Given the description of an element on the screen output the (x, y) to click on. 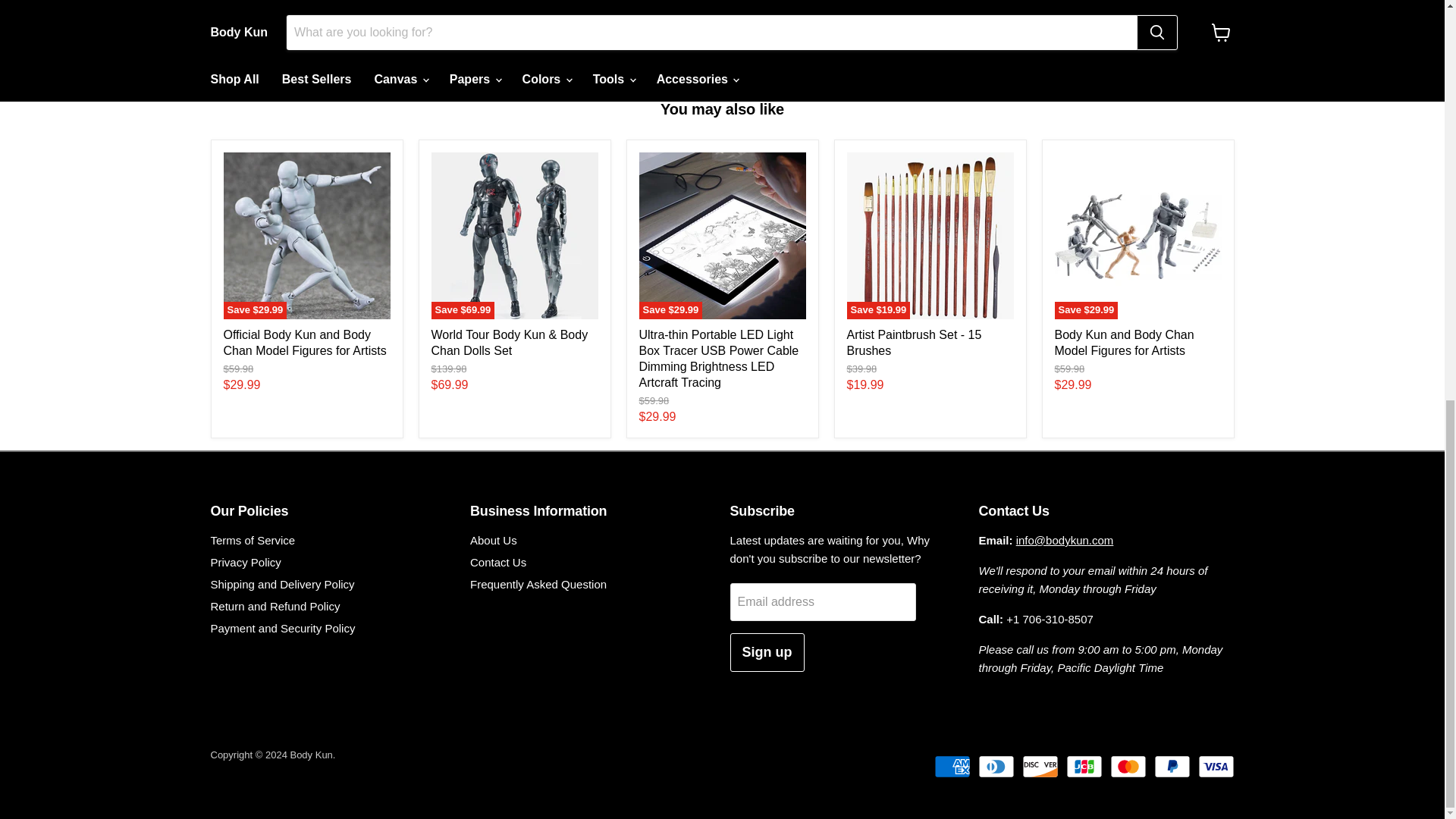
Diners Club (996, 766)
Visa (1216, 766)
JCB (1083, 766)
American Express (952, 766)
Mastercard (1128, 766)
Discover (1040, 766)
PayPal (1172, 766)
